Given the description of an element on the screen output the (x, y) to click on. 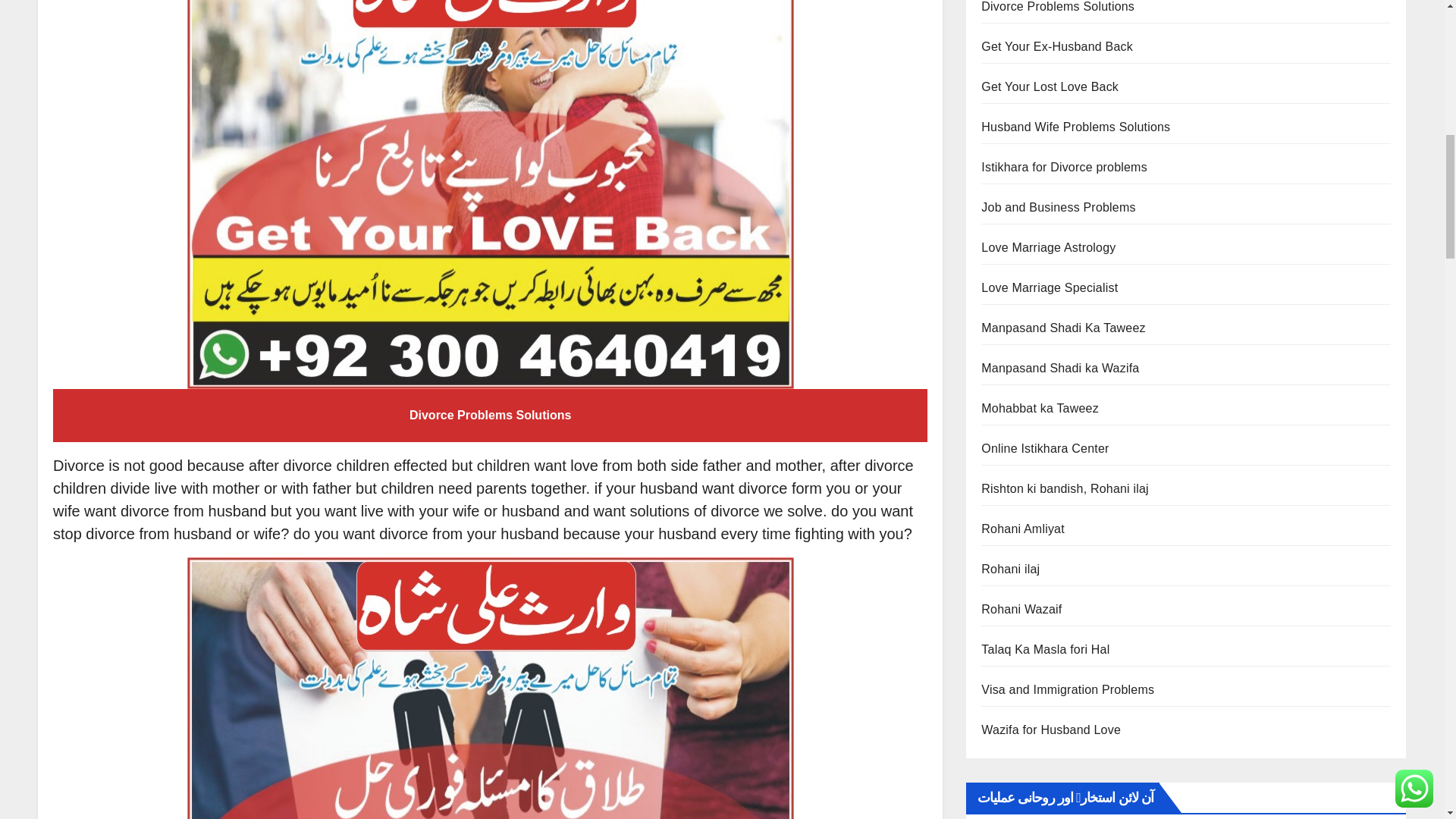
Mohabbat ka Taweez (1040, 408)
Get Your Lost Love Back (1049, 86)
Husband Wife Problems Solutions (1075, 126)
Rohani Amliyat (1022, 528)
Wazifa for Husband Love (1051, 729)
Manpasand Shadi Ka Taweez (1062, 327)
Love Marriage Astrology (1048, 246)
Manpasand Shadi ka Wazifa (1059, 367)
Online Istikhara Center (1044, 448)
Rohani Wazaif (1021, 608)
Get Your Ex-Husband Back (1056, 46)
Rishton ki bandish, Rohani ilaj (1064, 488)
Rohani ilaj (1010, 568)
Love Marriage Specialist (1049, 287)
Istikhara for Divorce problems (1064, 166)
